Given the description of an element on the screen output the (x, y) to click on. 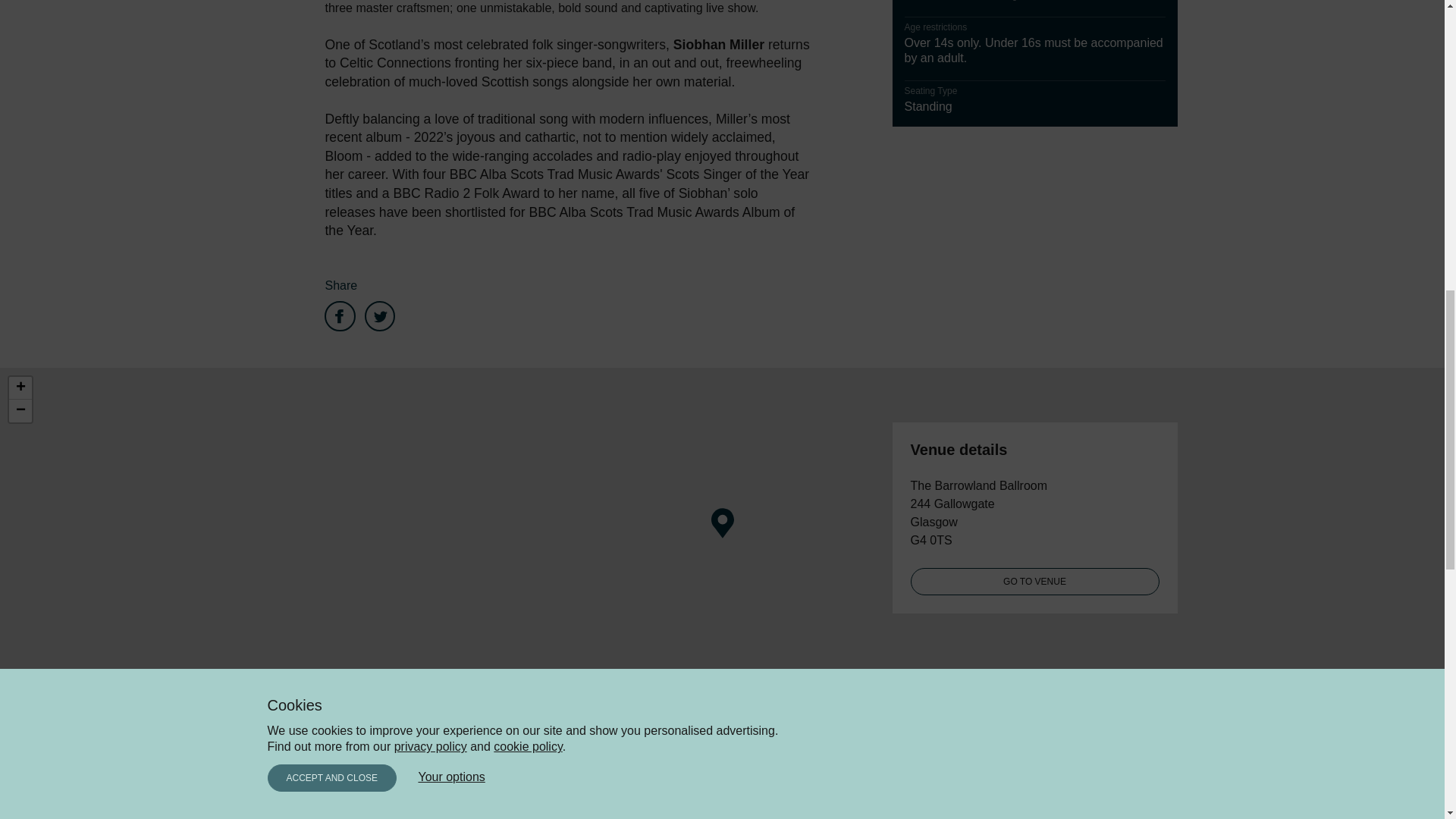
A JS library for interactive maps (1266, 702)
Zoom out (20, 410)
Zoom in (20, 387)
